Given the description of an element on the screen output the (x, y) to click on. 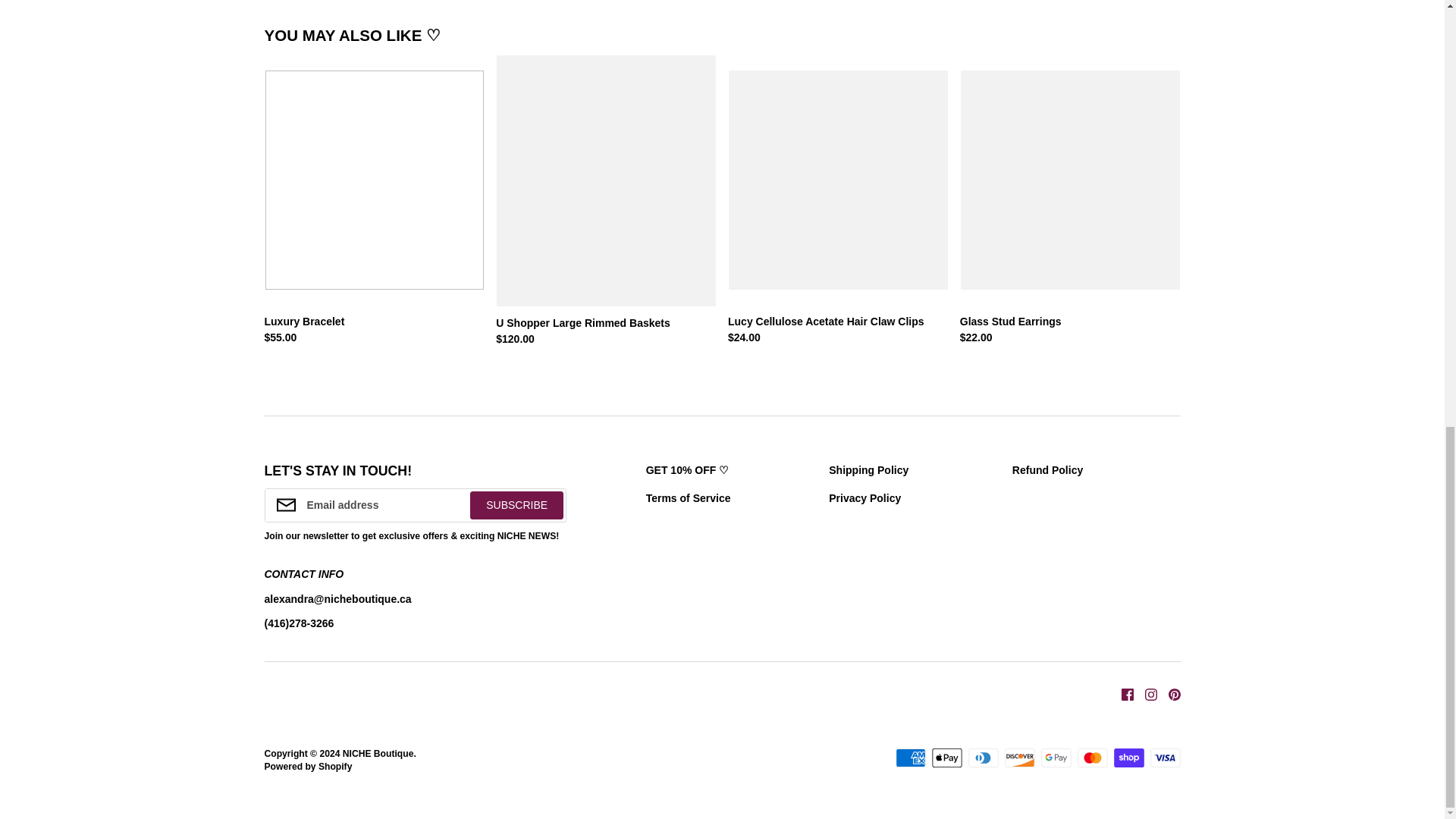
Diners Club (983, 757)
Google Pay (1056, 757)
American Express (910, 757)
Mastercard (1092, 757)
Shop Pay (1128, 757)
Apple Pay (946, 757)
Discover (1019, 757)
Visa (1164, 757)
